Given the description of an element on the screen output the (x, y) to click on. 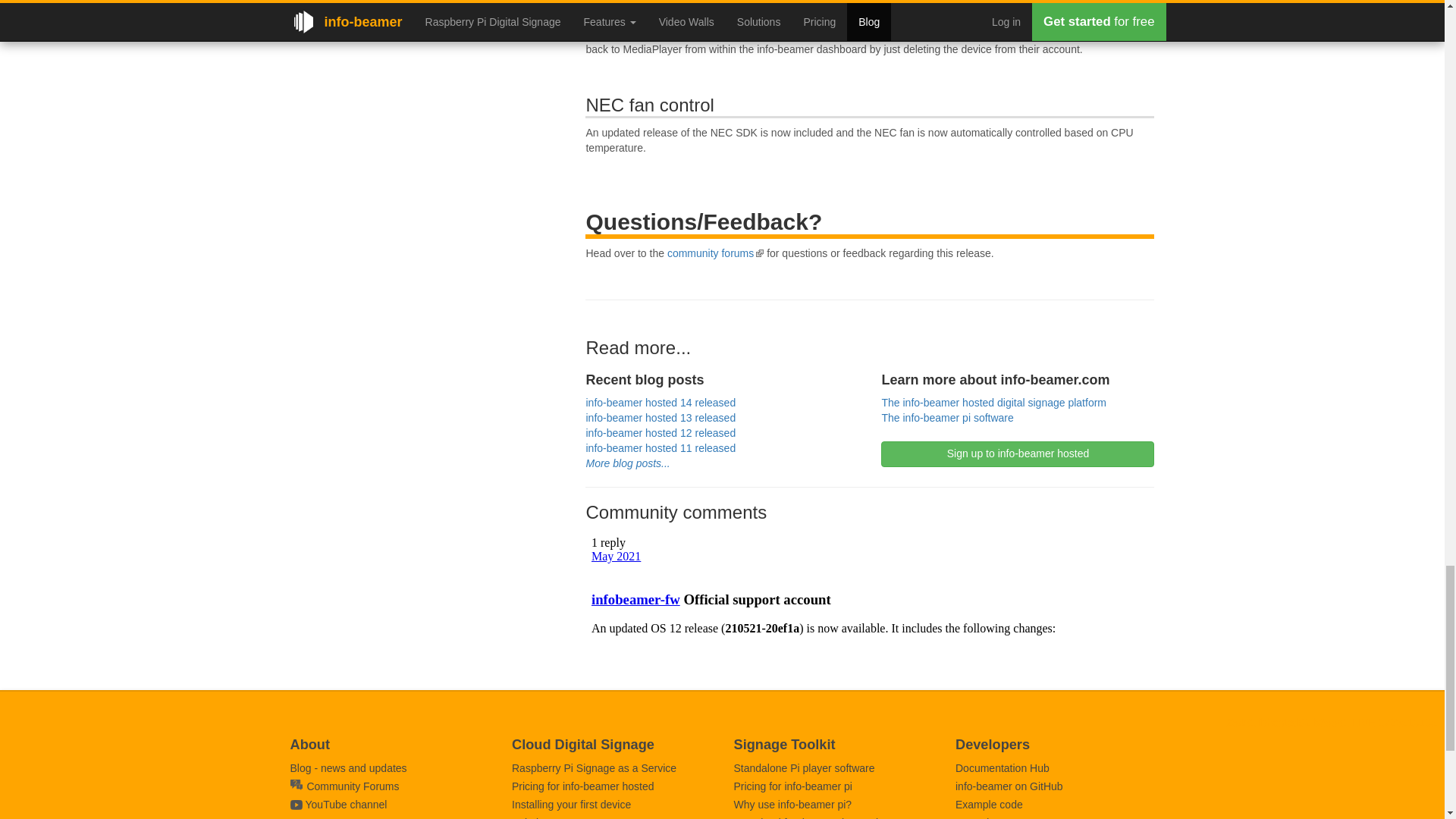
info-beamer hosted 14 released (660, 402)
community forums (714, 253)
info-beamer hosted 13 released (660, 417)
